Given the description of an element on the screen output the (x, y) to click on. 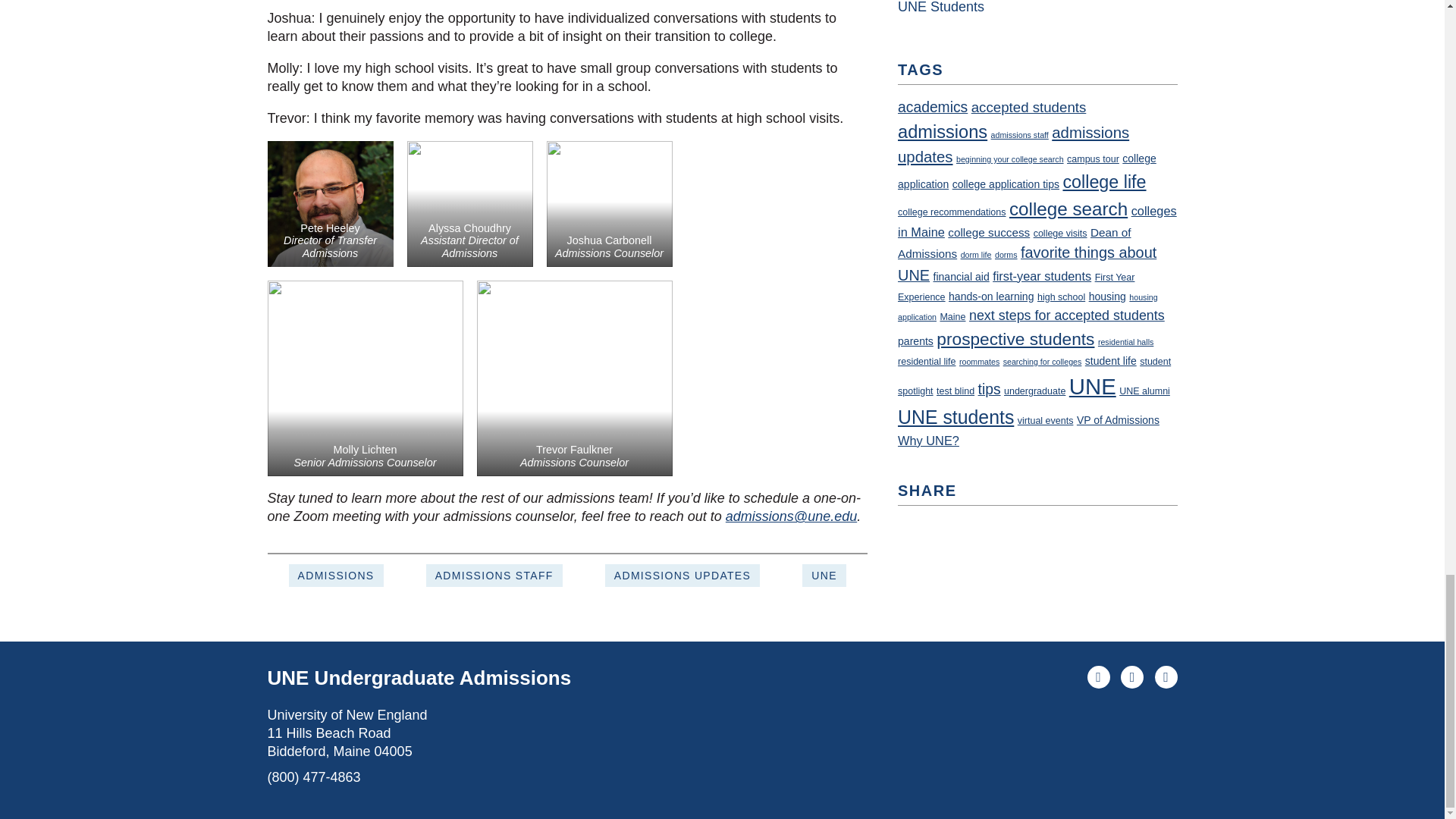
ADMISSIONS STAFF (494, 575)
UNE (823, 575)
ADMISSIONS UPDATES (682, 575)
ADMISSIONS (336, 575)
